Given the description of an element on the screen output the (x, y) to click on. 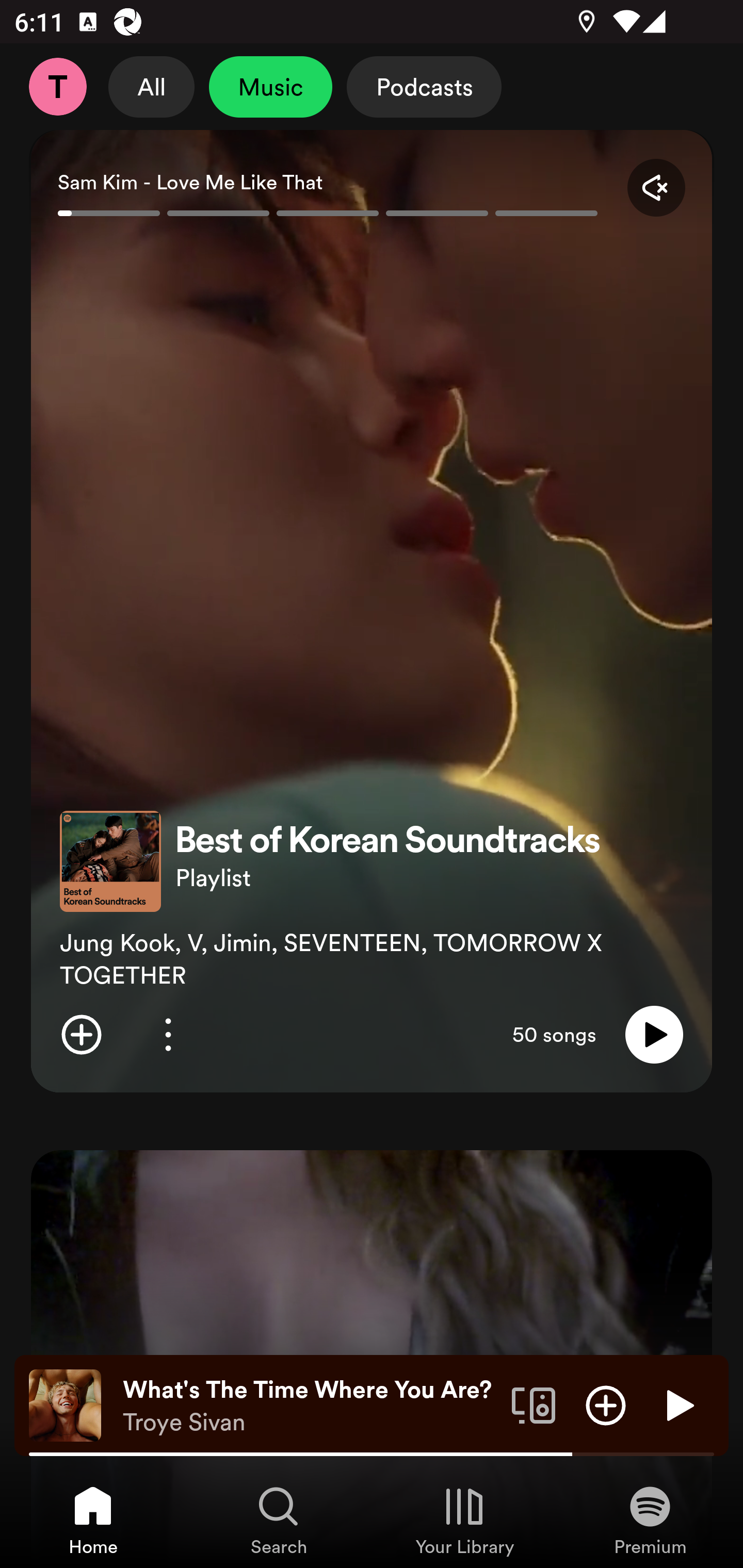
Profile (57, 86)
All Select All (151, 86)
Music Unselect Music (270, 86)
Podcasts Select Podcasts (423, 86)
Unmute (655, 187)
Add item (80, 1034)
Play (653, 1034)
What's The Time Where You Are? Troye Sivan (309, 1405)
The cover art of the currently playing track (64, 1404)
Connect to a device. Opens the devices menu (533, 1404)
Add item (605, 1404)
Play (677, 1404)
Home, Tab 1 of 4 Home Home (92, 1519)
Search, Tab 2 of 4 Search Search (278, 1519)
Your Library, Tab 3 of 4 Your Library Your Library (464, 1519)
Premium, Tab 4 of 4 Premium Premium (650, 1519)
